Given the description of an element on the screen output the (x, y) to click on. 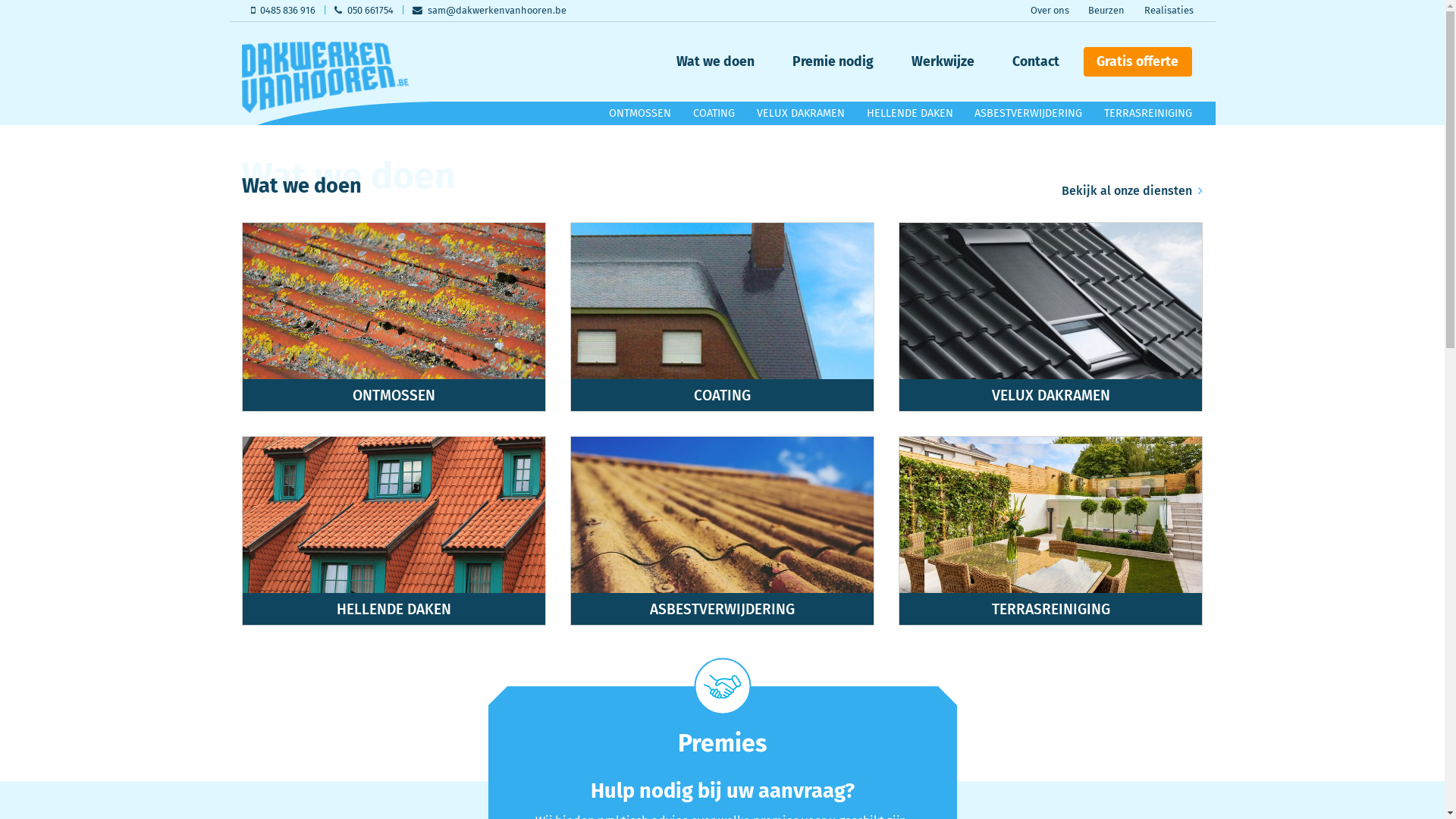
HELLENDE DAKEN Element type: text (909, 113)
ASBESTVERWIJDERING Element type: text (1028, 113)
VELUX DAKRAMEN Element type: text (800, 113)
Hellende daken Element type: hover (393, 530)
ONTMOSSEN Element type: text (640, 113)
Asbestverwijdering Element type: hover (722, 530)
Ontmossen Element type: hover (393, 316)
Contact Element type: text (1035, 61)
Bekijk al onze diensten Element type: text (1131, 190)
Wat we doen Element type: text (715, 61)
Velux dakramen Element type: hover (1050, 316)
0485 836 916 Element type: text (282, 10)
050 661754 Element type: text (363, 10)
sam@dakwerkenvanhooren.be Element type: text (488, 10)
DEFAULT_TITLE Element type: hover (324, 77)
Realisaties Element type: text (1168, 10)
Coating Element type: hover (722, 316)
COATING Element type: text (714, 113)
Werkwijze Element type: text (942, 61)
Beurzen Element type: text (1106, 10)
Terrasreiniging Element type: hover (1050, 530)
Premie nodig Element type: text (832, 61)
Gratis offerte Element type: text (1137, 61)
TERRASREINIGING Element type: text (1148, 113)
Over ons Element type: text (1049, 10)
